Given the description of an element on the screen output the (x, y) to click on. 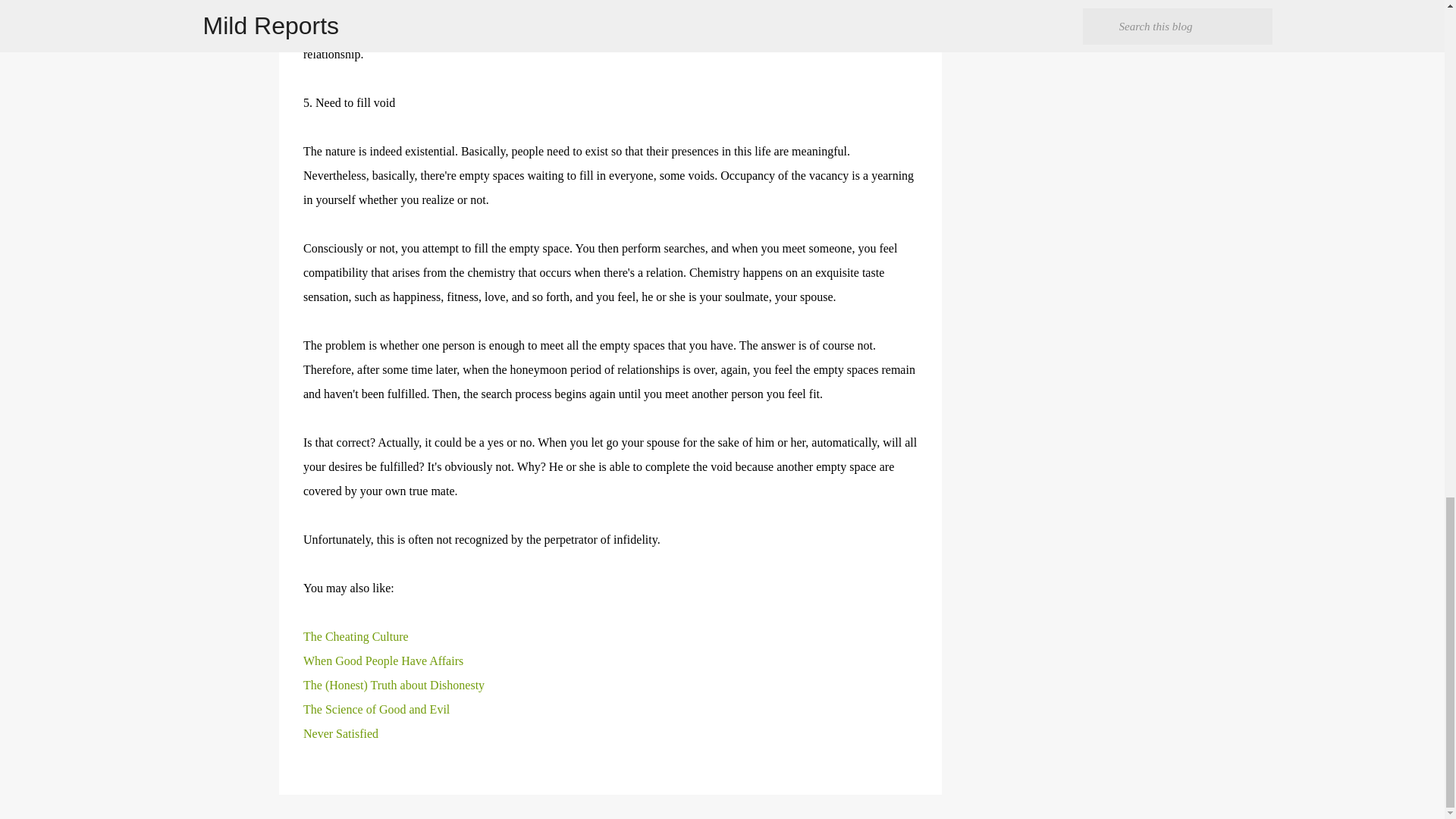
The Science of Good and Evil (375, 708)
When Good People Have Affairs (382, 660)
Never Satisfied (340, 733)
The Cheating Culture (355, 635)
